Given the description of an element on the screen output the (x, y) to click on. 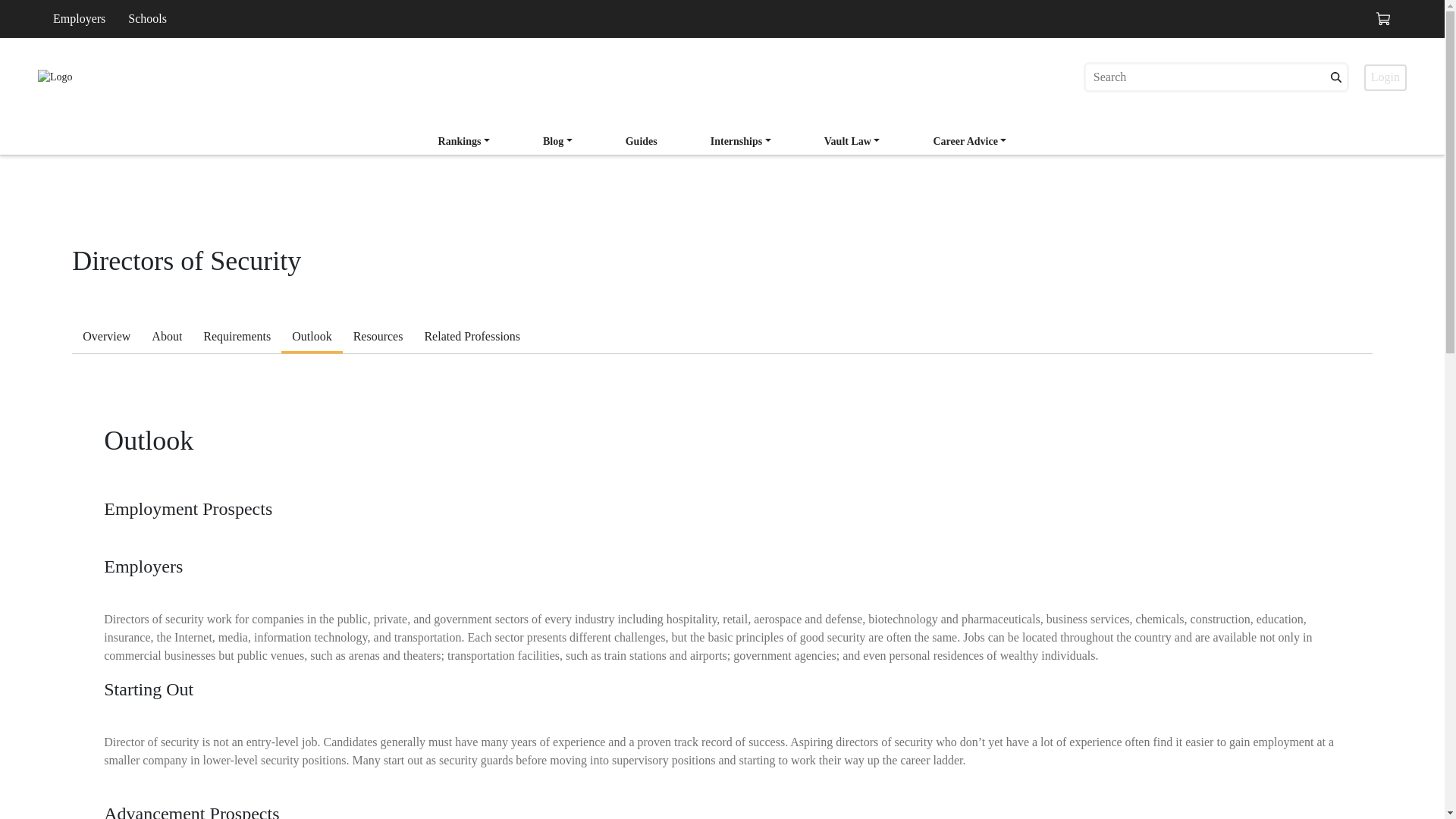
Vault Law (722, 135)
Login (852, 142)
Overview (1385, 76)
Resources (106, 337)
Internships (377, 337)
Outlook (740, 141)
Internships (311, 337)
Employers (740, 142)
Rankings (78, 18)
